Given the description of an element on the screen output the (x, y) to click on. 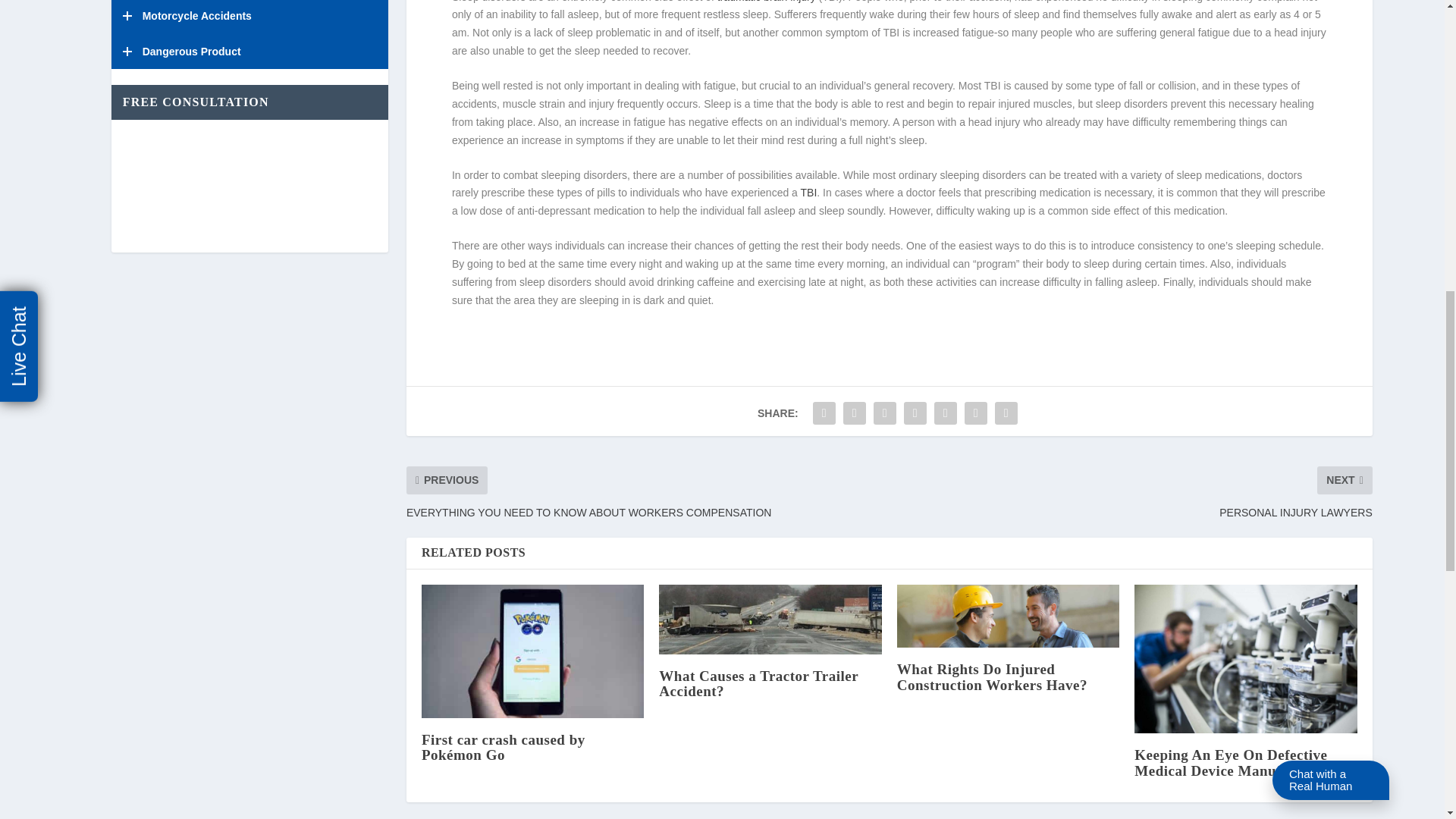
What Rights Do Injured Construction Workers Have? (1007, 616)
Keeping An Eye On Defective Medical Device Manufacturers (1245, 658)
What Causes a Tractor Trailer Accident? (769, 619)
